Given the description of an element on the screen output the (x, y) to click on. 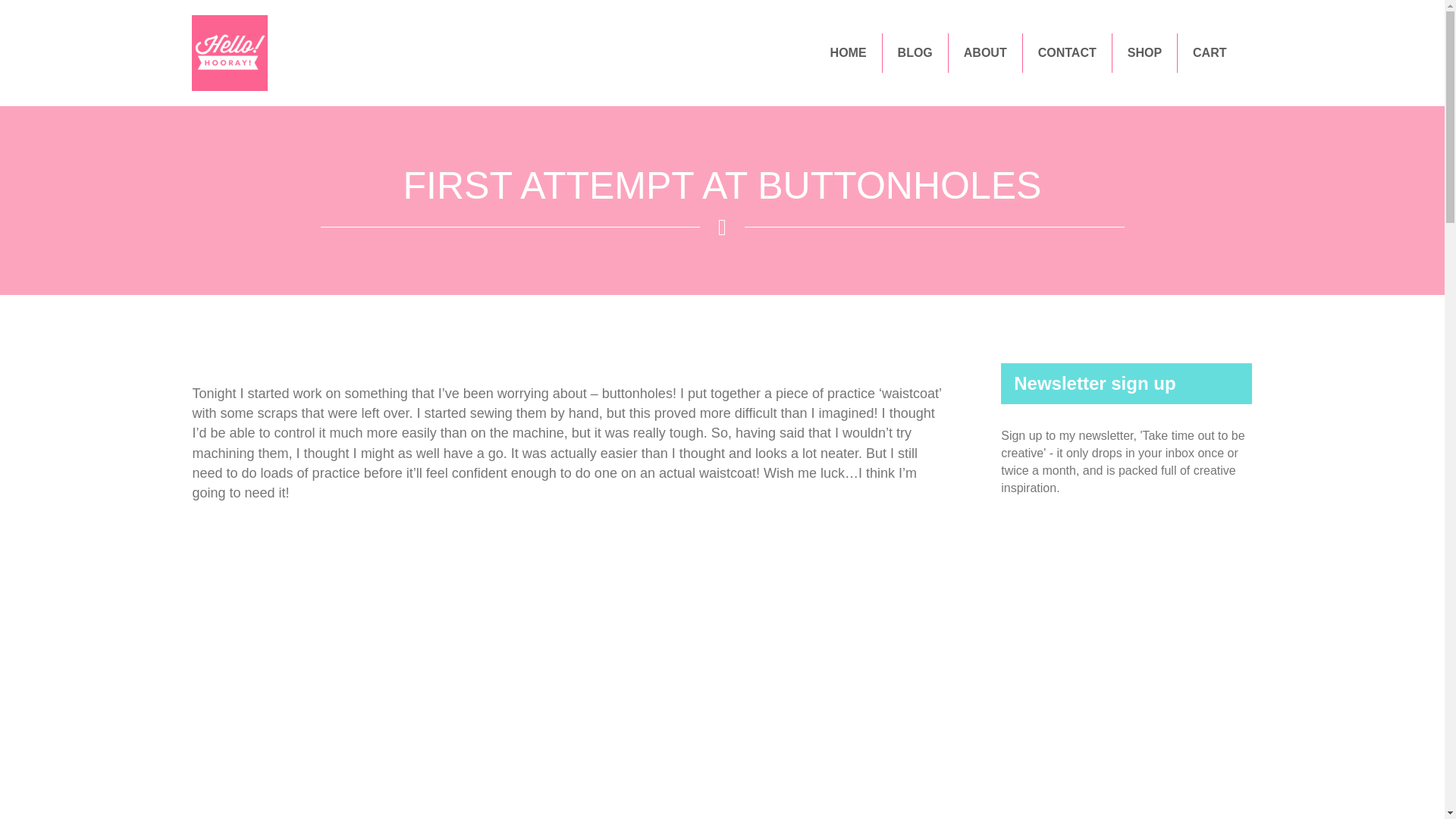
CONTACT (1067, 52)
FC6391 small (228, 52)
CART (1209, 52)
SHOP (1144, 52)
BLOG (914, 52)
HOME (848, 52)
ABOUT (985, 52)
